Given the description of an element on the screen output the (x, y) to click on. 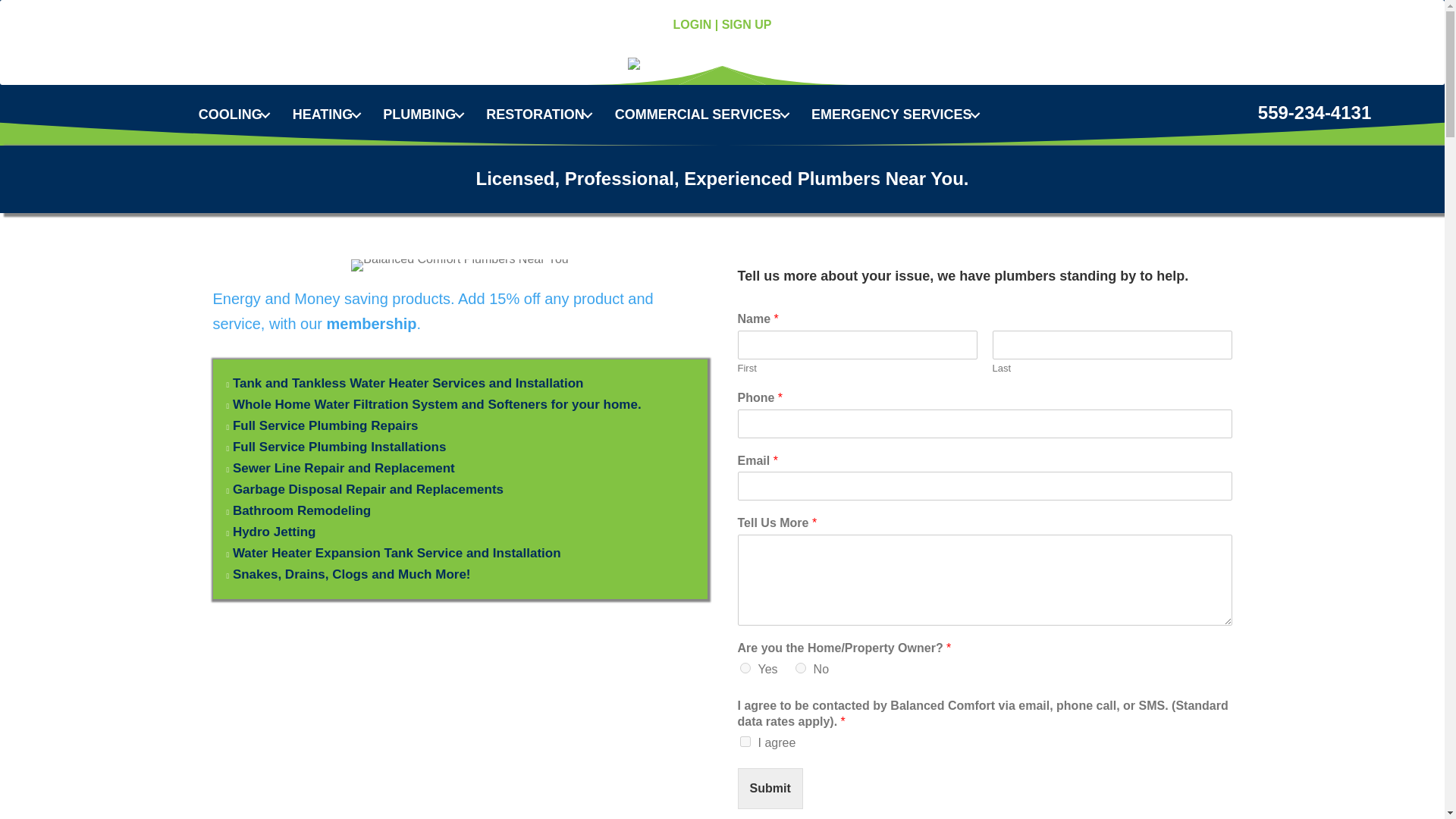
COMMERCIAL SERVICES (705, 114)
Balanced Comfort Cooling Heating Plumbing (721, 63)
PLUMBING (426, 114)
HEATING (329, 114)
Transparent Van (458, 265)
I agree (745, 741)
SIGN UP (746, 24)
LOGIN (691, 24)
COOLING (238, 114)
No (800, 667)
